Given the description of an element on the screen output the (x, y) to click on. 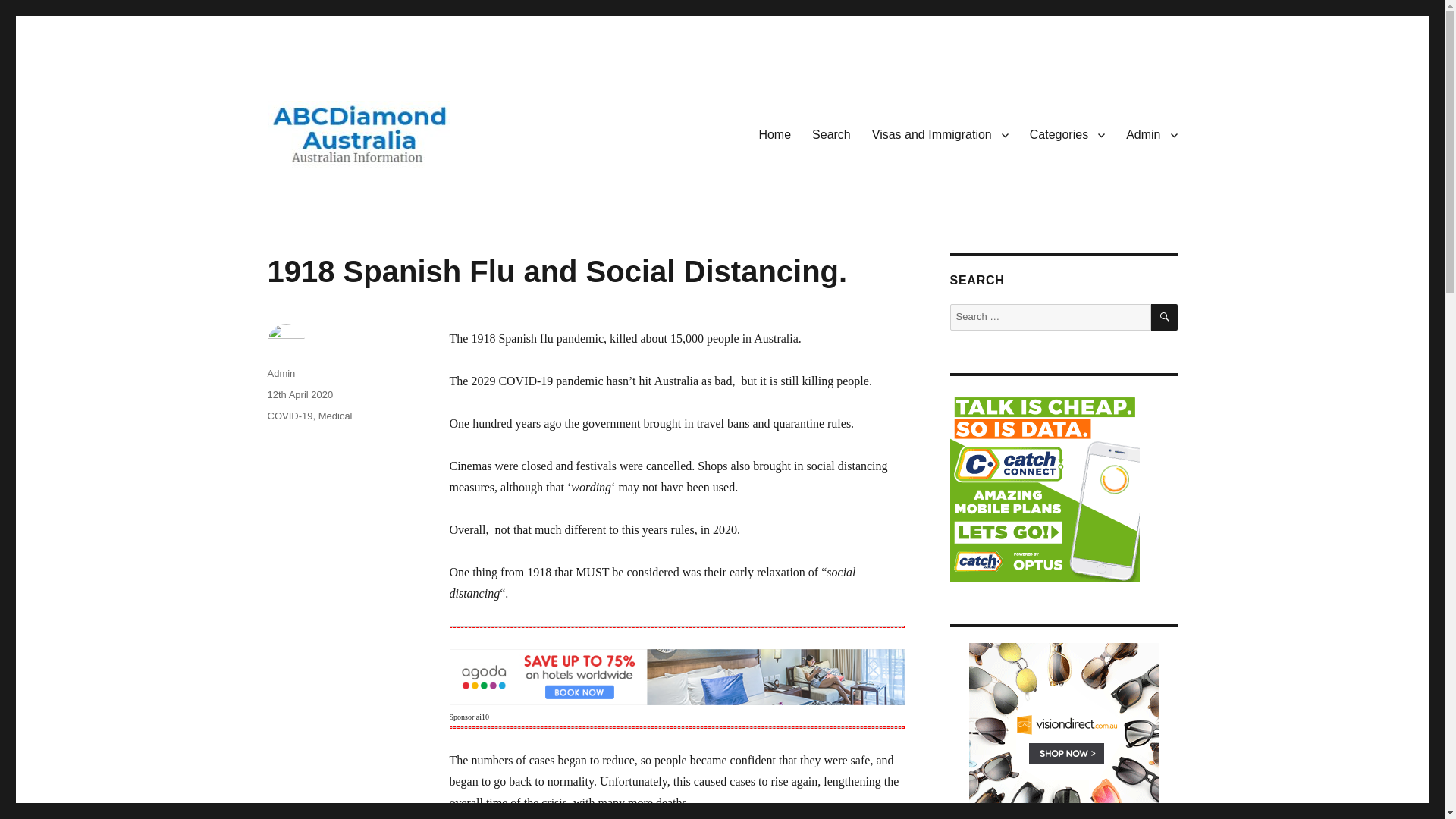
Home (775, 133)
Visas and Immigration (940, 133)
Australian Information (379, 191)
www.agoda.com (676, 677)
Categories (1067, 133)
Search (831, 133)
